Given the description of an element on the screen output the (x, y) to click on. 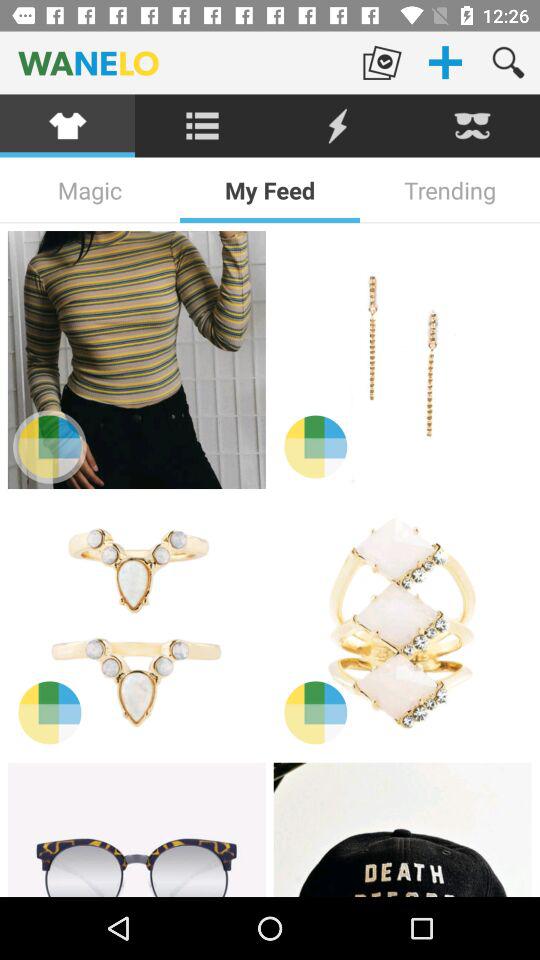
choose your object (136, 829)
